Given the description of an element on the screen output the (x, y) to click on. 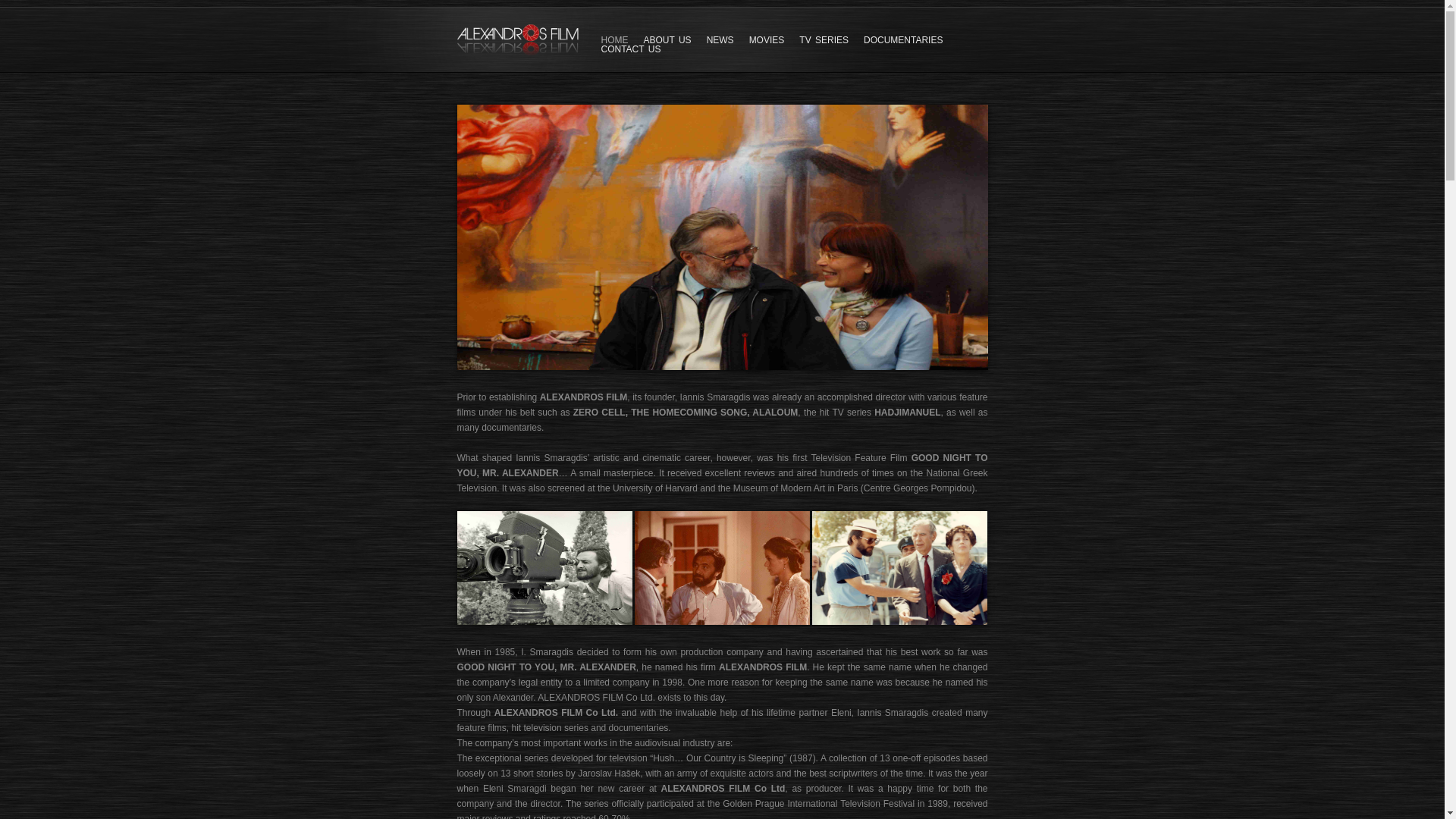
DOCUMENTARIES (902, 40)
MOVIES (766, 40)
NEWS (719, 40)
TV SERIES (823, 40)
ABOUT US (666, 40)
HOME (613, 40)
Iannis and Eleni Smaragdis during filming of El Greco (722, 366)
CONTACT US (630, 49)
